Given the description of an element on the screen output the (x, y) to click on. 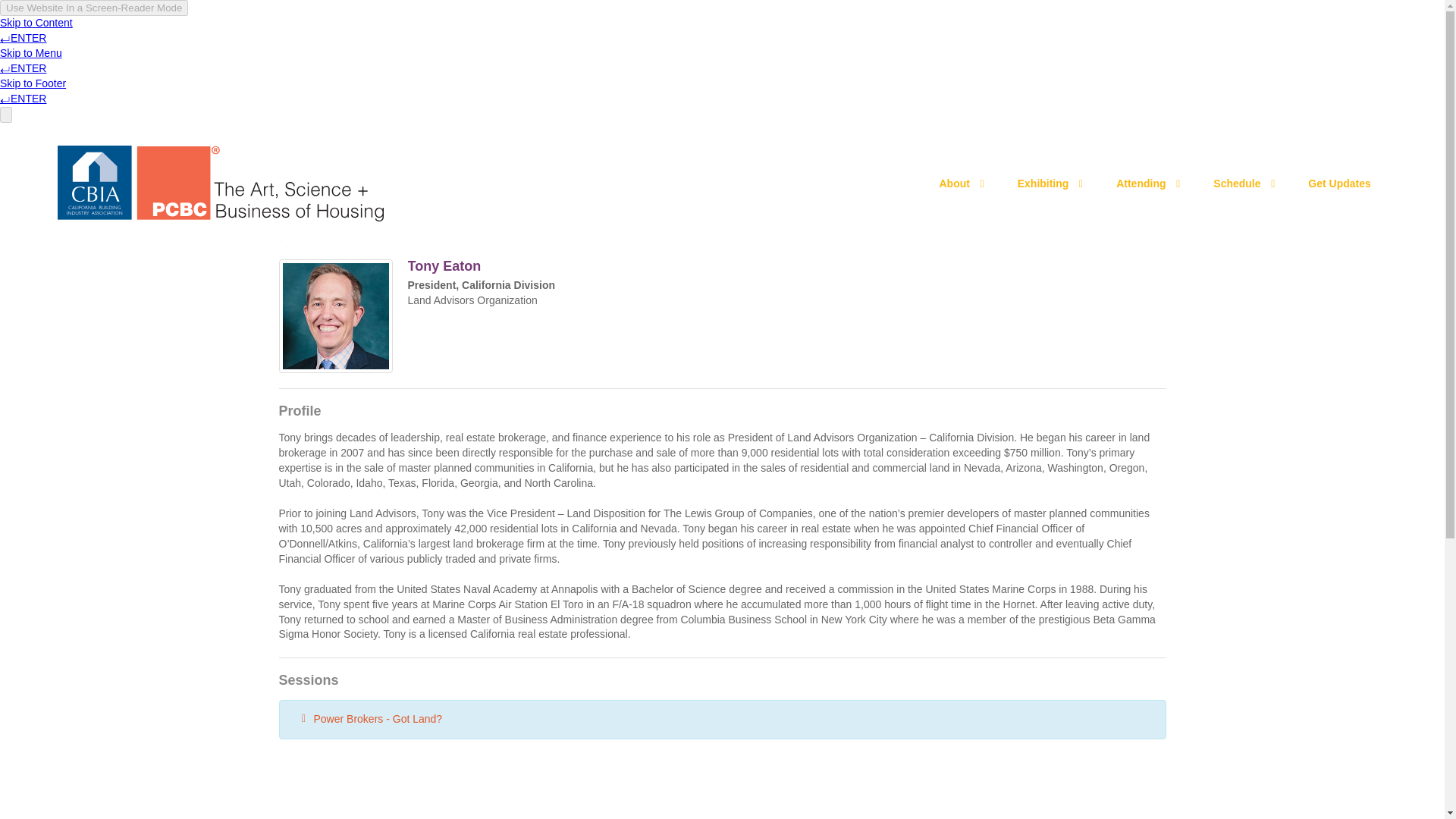
About   (961, 183)
Exhibiting   (1051, 183)
Attending   (1148, 183)
Get Updates (1338, 183)
Schedule   (1244, 183)
